Given the description of an element on the screen output the (x, y) to click on. 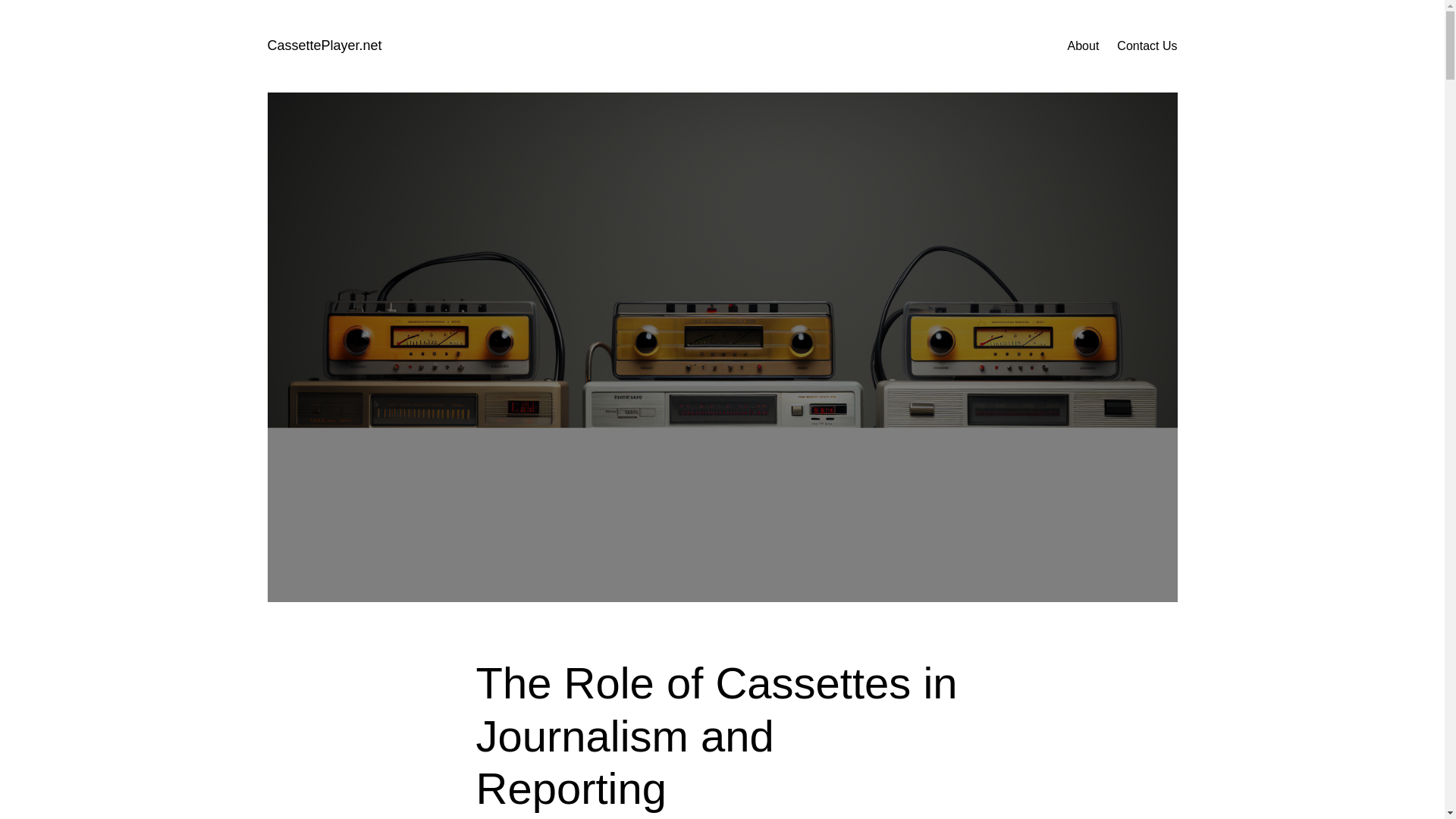
CassettePlayer.net (323, 45)
Contact Us (1146, 46)
About (1083, 46)
